Given the description of an element on the screen output the (x, y) to click on. 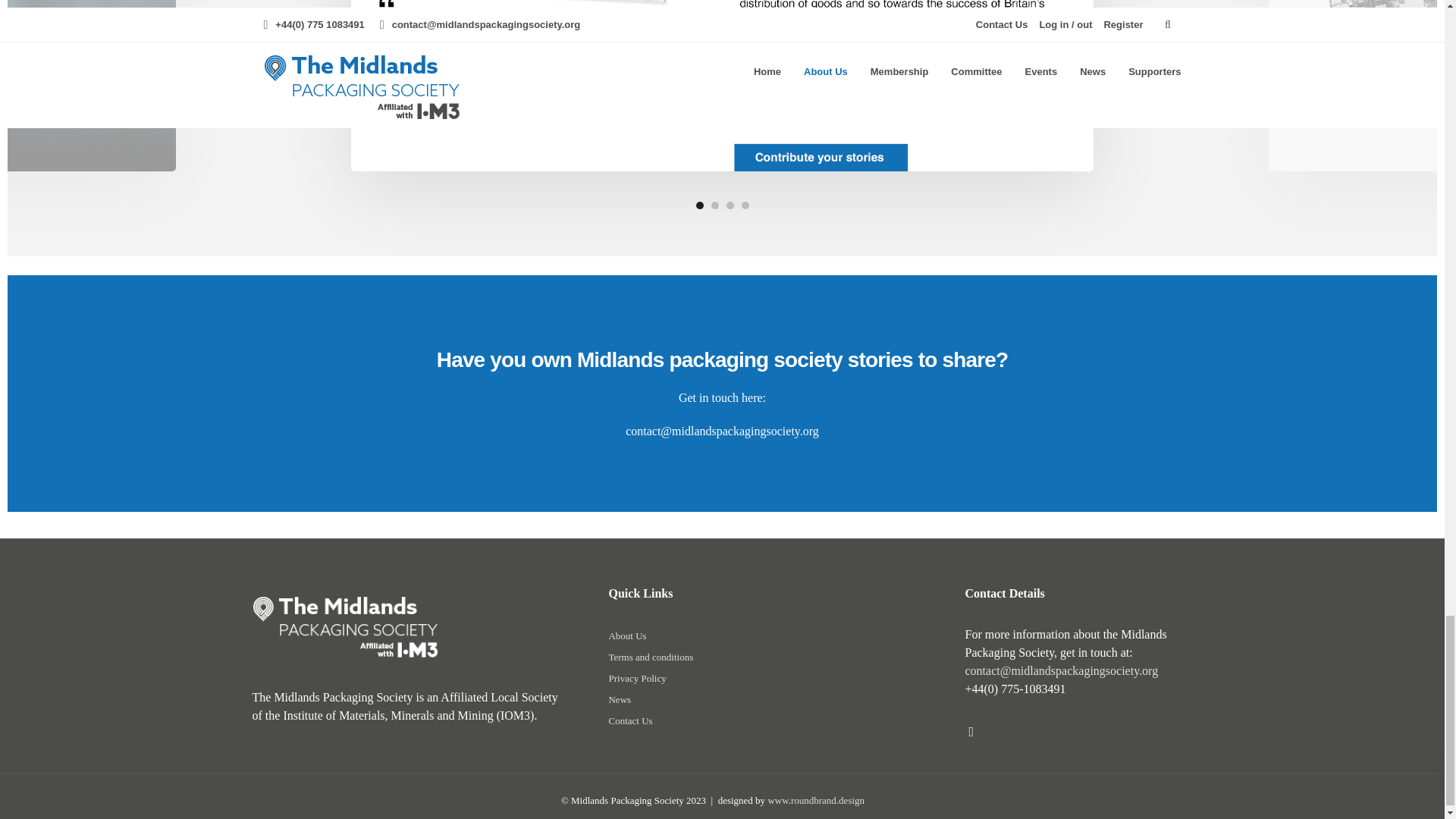
About Us (627, 637)
Contact Us (630, 722)
1940-1950 (722, 85)
Privacy Policy (636, 680)
contribute (88, 85)
Terms and conditions (650, 659)
News (619, 701)
